Given the description of an element on the screen output the (x, y) to click on. 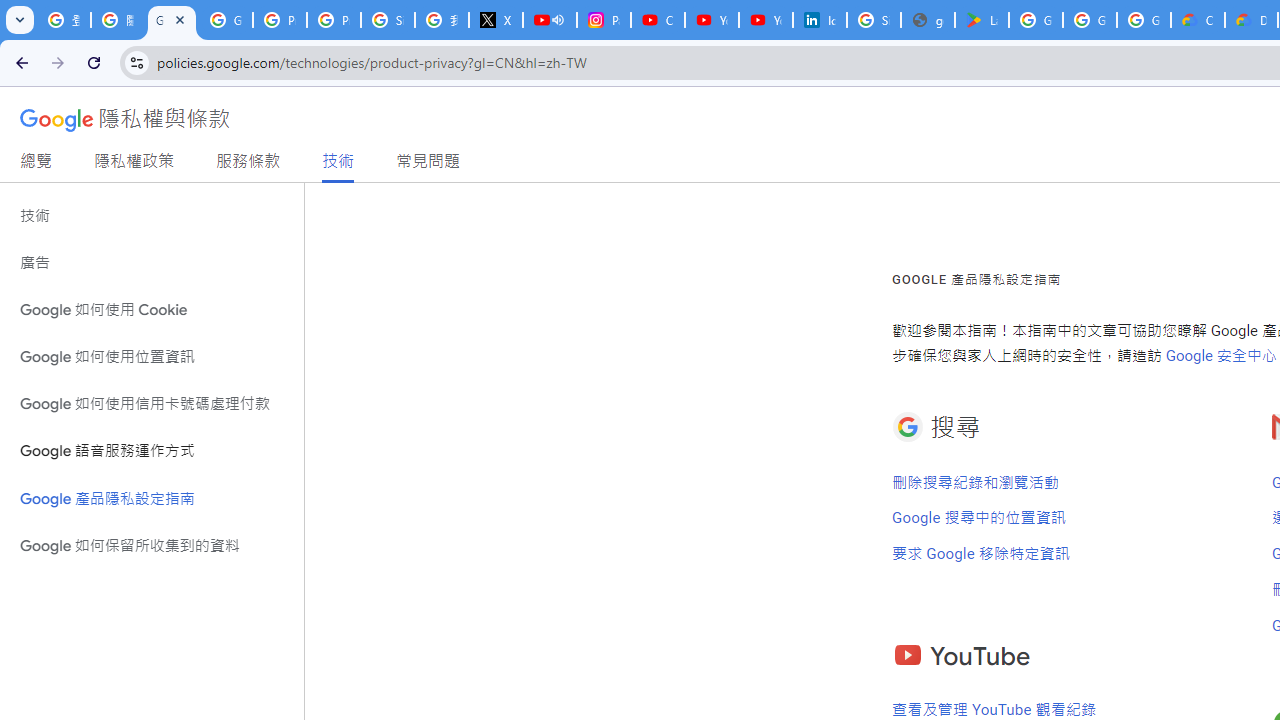
Customer Care | Google Cloud (1197, 20)
